Given the description of an element on the screen output the (x, y) to click on. 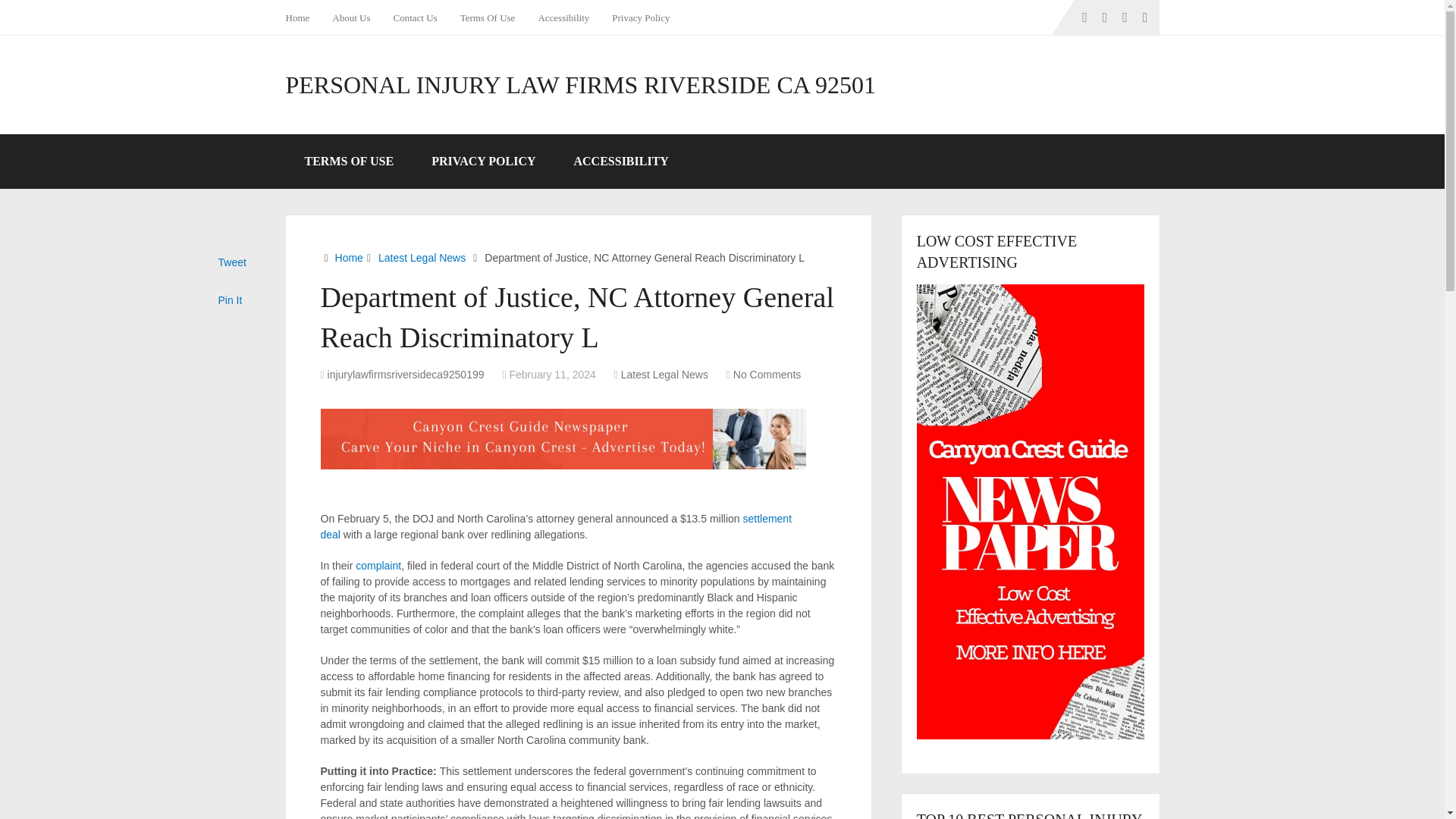
No Comments (766, 374)
ACCESSIBILITY (620, 161)
complaint (378, 565)
Posts by injurylawfirmsriversideca9250199 (405, 374)
Home (302, 17)
Accessibility (562, 17)
View all posts in Latest Legal News (664, 374)
injurylawfirmsriversideca9250199 (405, 374)
Home (348, 257)
PRIVACY POLICY (483, 161)
